Given the description of an element on the screen output the (x, y) to click on. 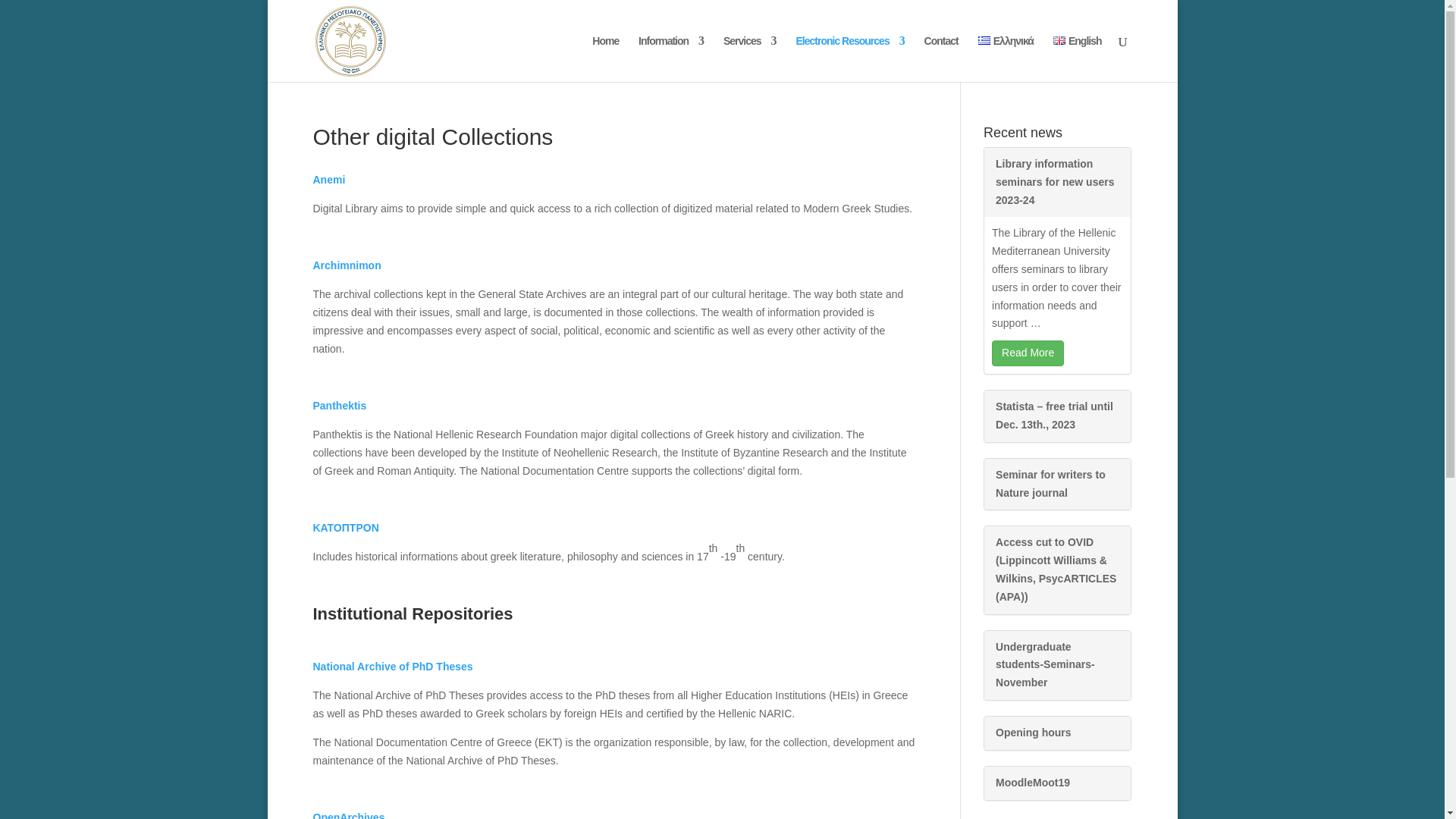
English (1077, 58)
Electronic Resources (850, 58)
Information (671, 58)
Services (749, 58)
